Given the description of an element on the screen output the (x, y) to click on. 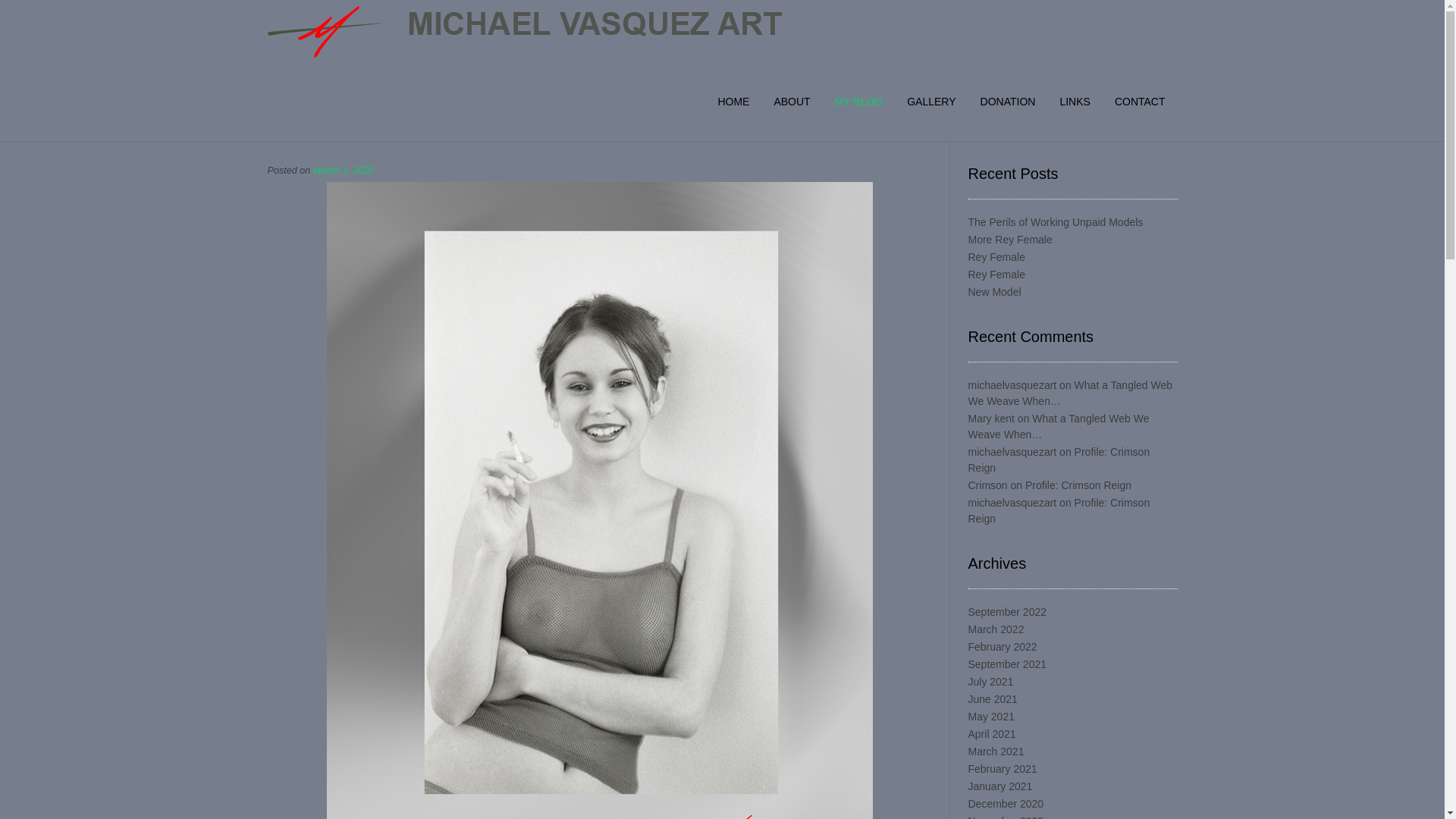
The Perils of Working Unpaid Models (1055, 222)
Rey Female (996, 274)
DONATION (1008, 101)
CONTACT (1139, 101)
MY BLOG (858, 101)
More Rey Female (1009, 239)
March 1, 2020 (343, 170)
GALLERY (931, 101)
michaelvasquezart (1012, 385)
Rey Female (996, 256)
New Model (994, 291)
